Given the description of an element on the screen output the (x, y) to click on. 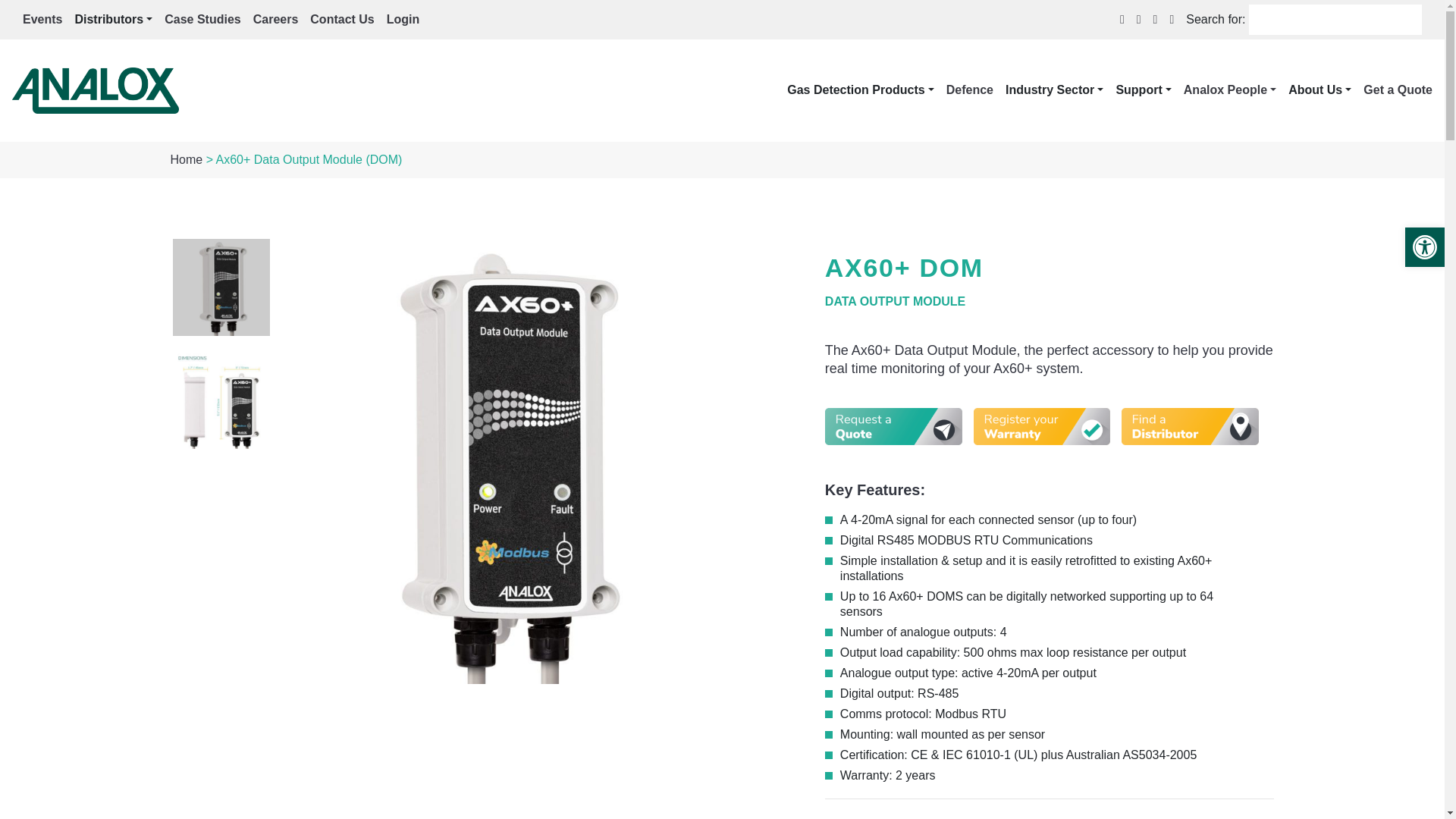
Login (403, 19)
Careers (275, 19)
Search (25, 11)
Distributors (113, 19)
Case Studies (202, 19)
Accessibility Tools (1424, 247)
Contact Us (342, 19)
Gas Detection Products (860, 90)
Events (42, 19)
